Given the description of an element on the screen output the (x, y) to click on. 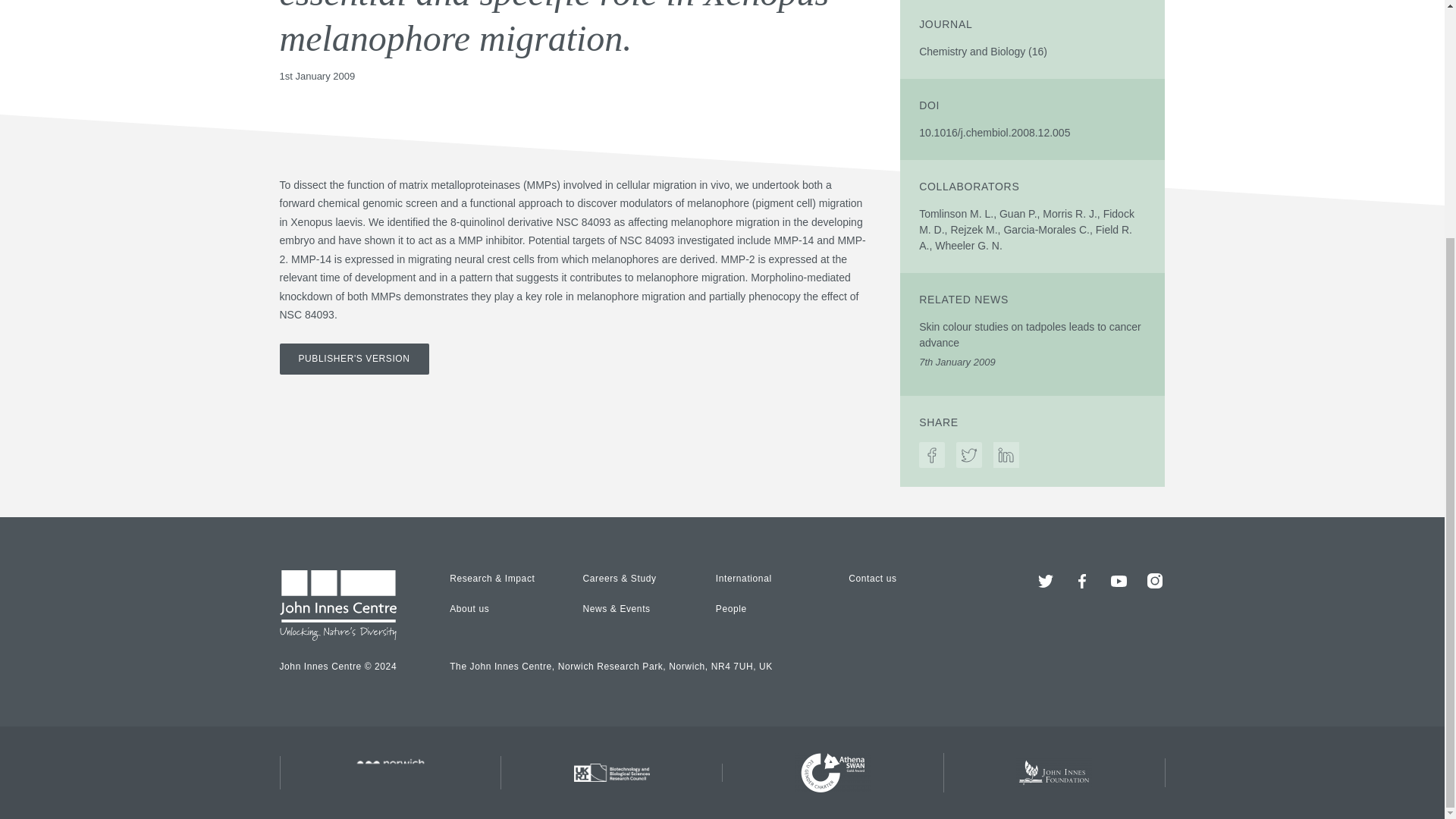
International (743, 578)
About us (469, 608)
PUBLISHER'S VERSION (353, 358)
People (731, 608)
Contact us (872, 578)
